Given the description of an element on the screen output the (x, y) to click on. 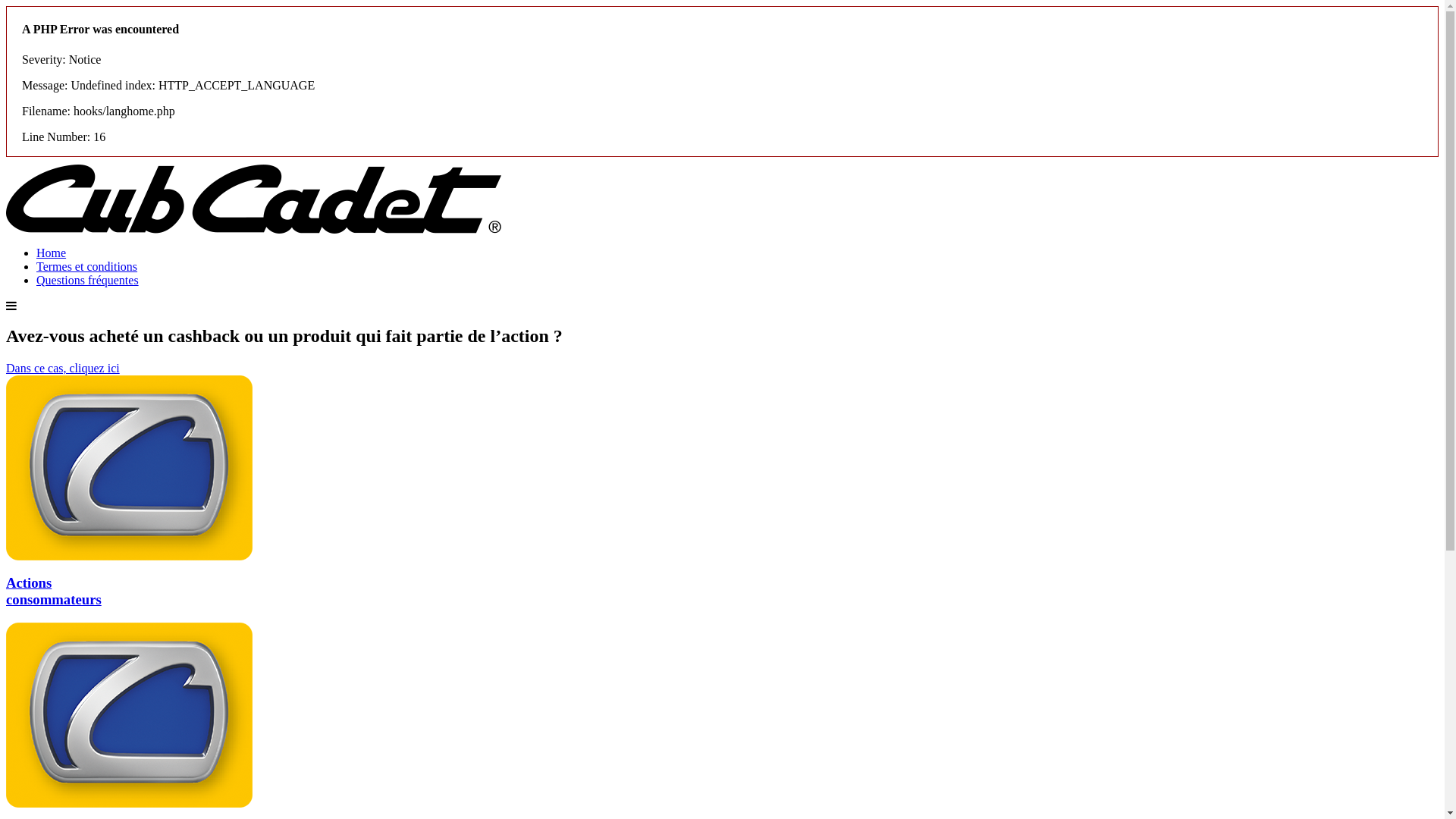
Termes et conditions Element type: text (86, 266)
Home Element type: text (50, 252)
Dans ce cas, cliquez ici Element type: text (62, 367)
Actions
consommateurs Element type: text (722, 578)
